Given the description of an element on the screen output the (x, y) to click on. 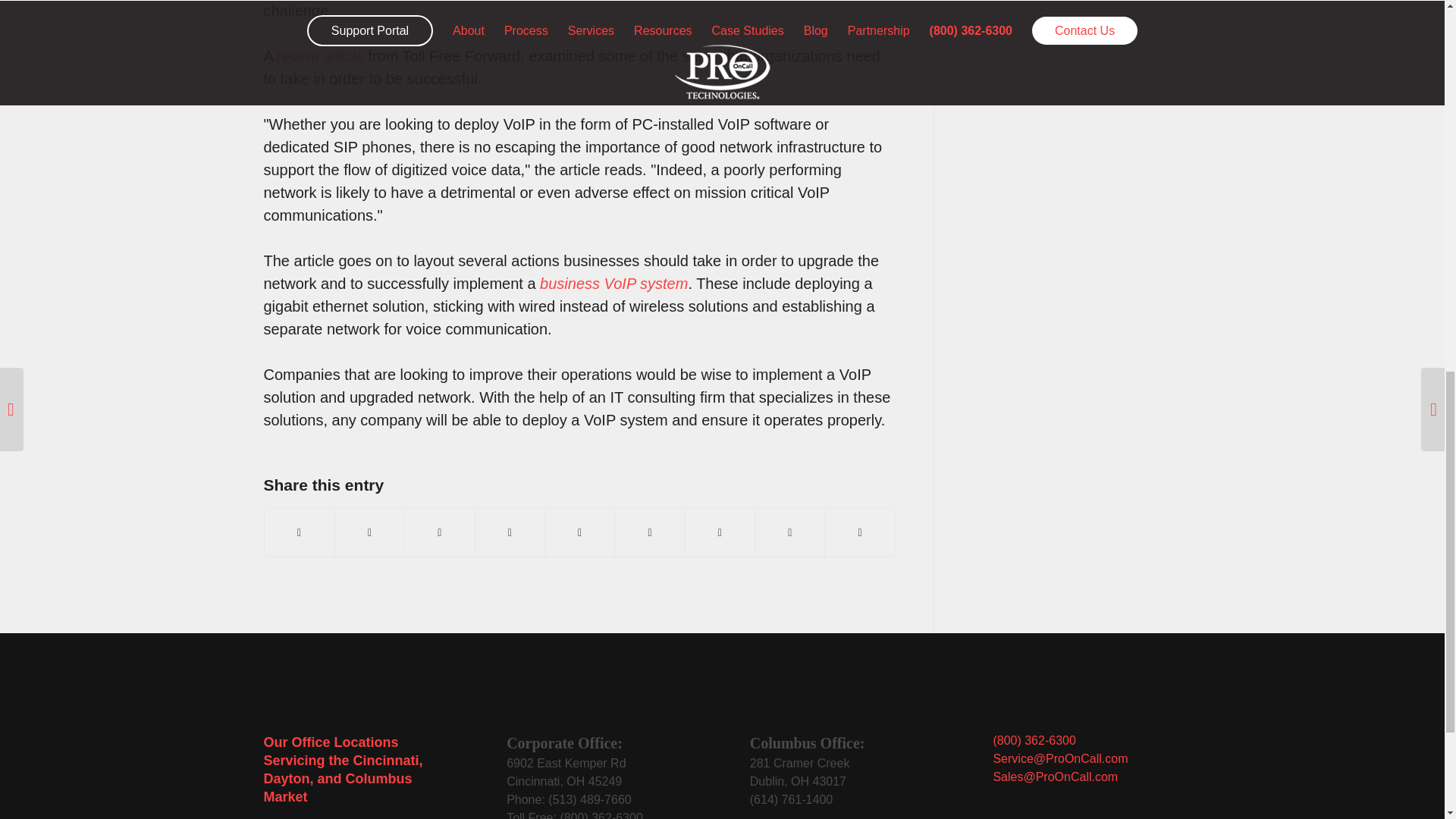
recent article (566, 771)
business VoIP system (320, 55)
